Given the description of an element on the screen output the (x, y) to click on. 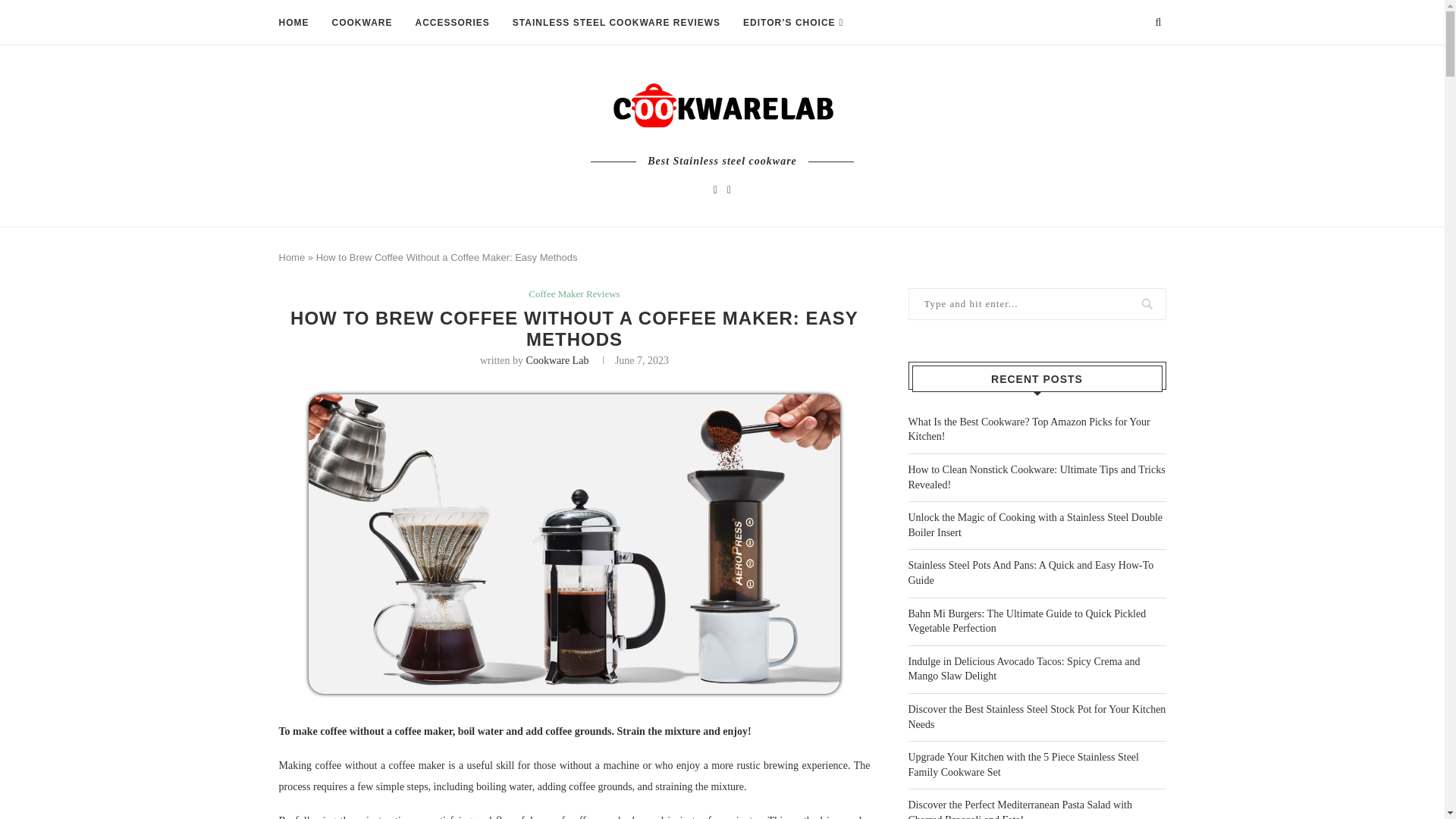
Home (292, 256)
ACCESSORIES (451, 22)
Coffee Maker Reviews (574, 294)
STAINLESS STEEL COOKWARE REVIEWS (616, 22)
Cookware Lab (557, 360)
COOKWARE (362, 22)
